Given the description of an element on the screen output the (x, y) to click on. 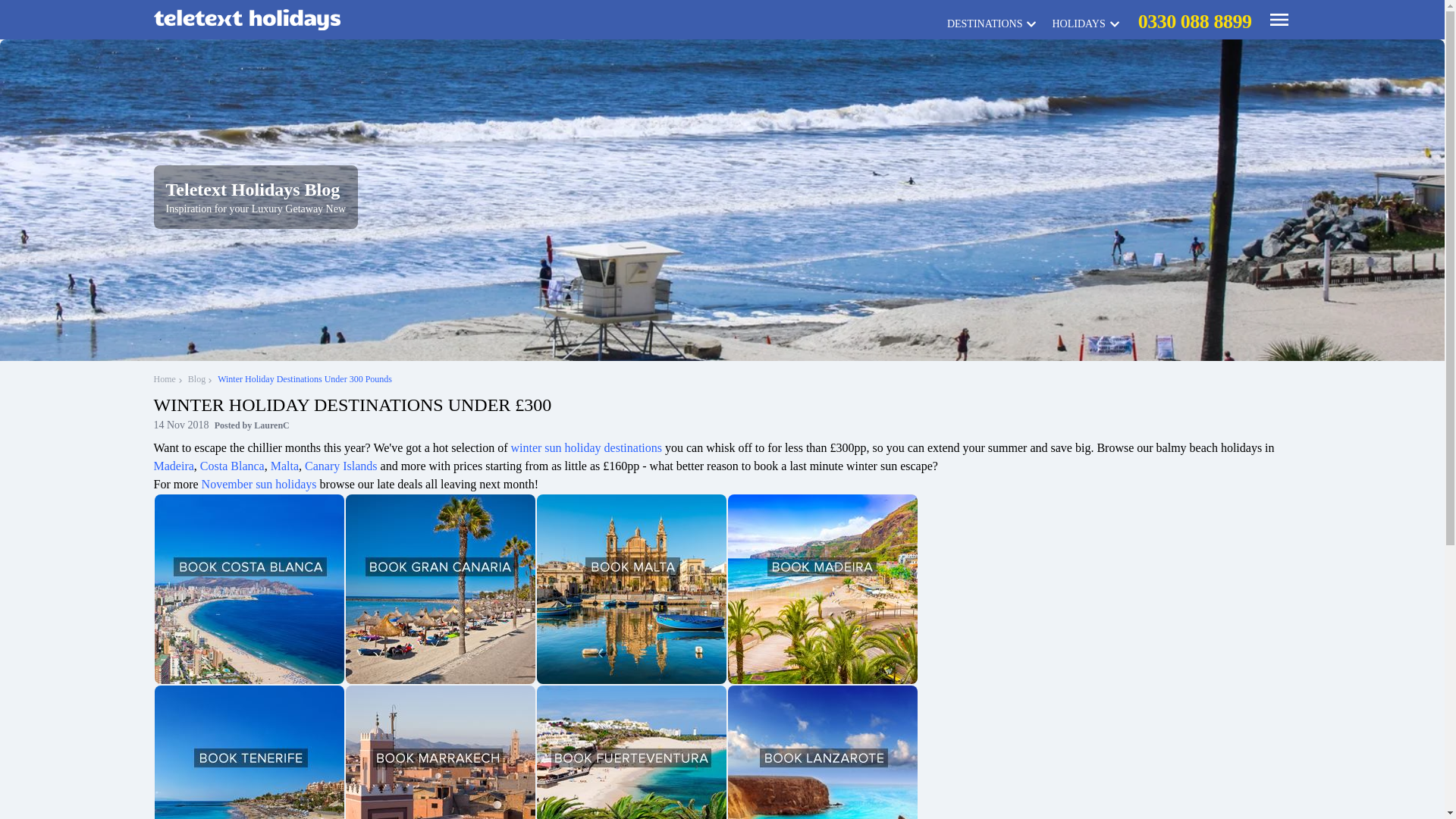
Madeira (172, 465)
Canary Islands (340, 465)
Malta (284, 465)
Costa Blanca (232, 465)
Book Malta (631, 588)
Home (168, 378)
Book Madeira (822, 588)
winter sun holiday destinations (586, 447)
November sun holidays (259, 483)
Book Costa Blanca (248, 588)
Blog (200, 378)
0330 088 8899 (1193, 19)
Book Marrakech (440, 752)
Book Gran Canaria (440, 588)
Book Fuerteventura (631, 752)
